Given the description of an element on the screen output the (x, y) to click on. 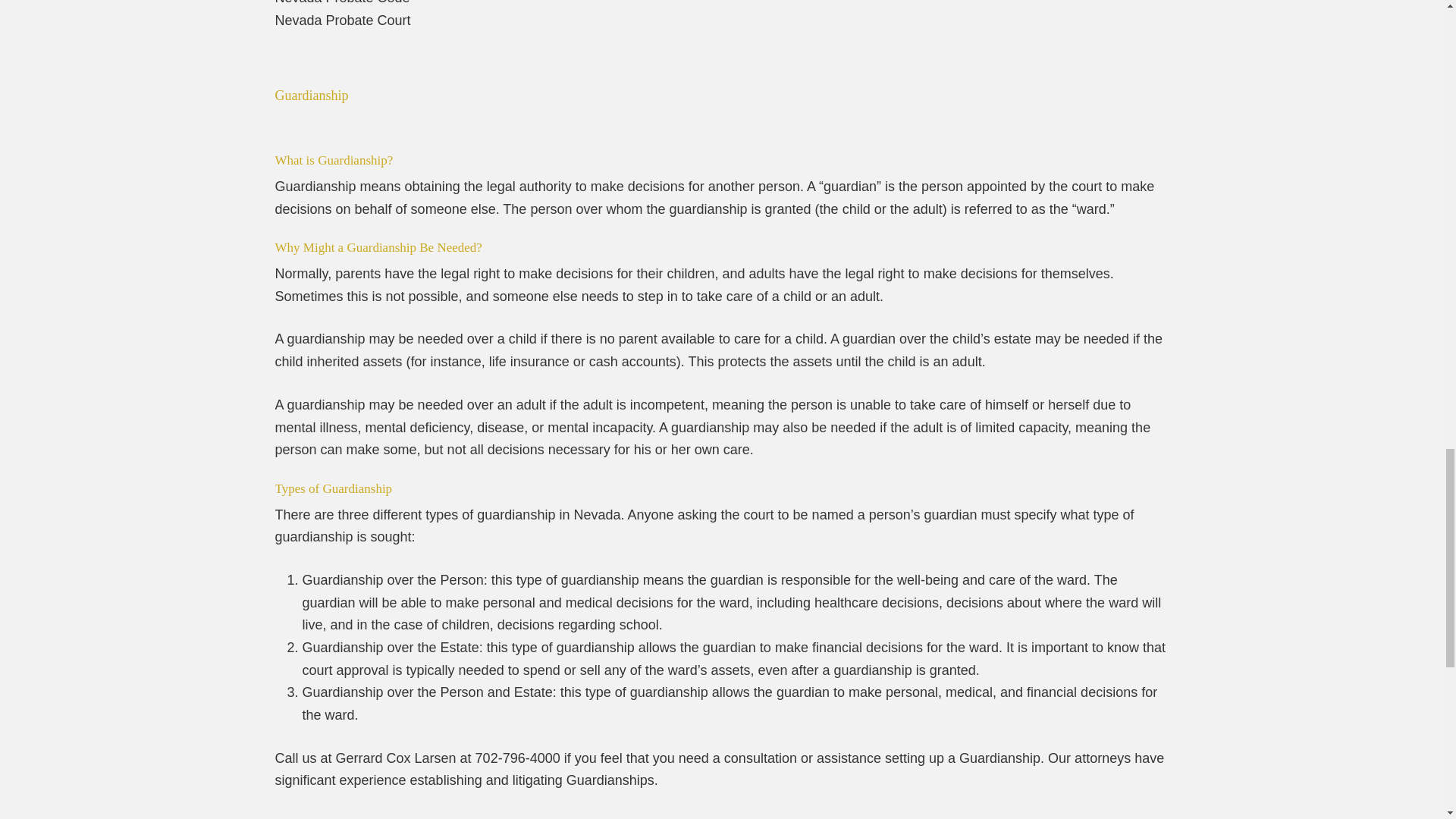
Nevada Probate Court (342, 20)
Nevada Probate Code (342, 2)
